Given the description of an element on the screen output the (x, y) to click on. 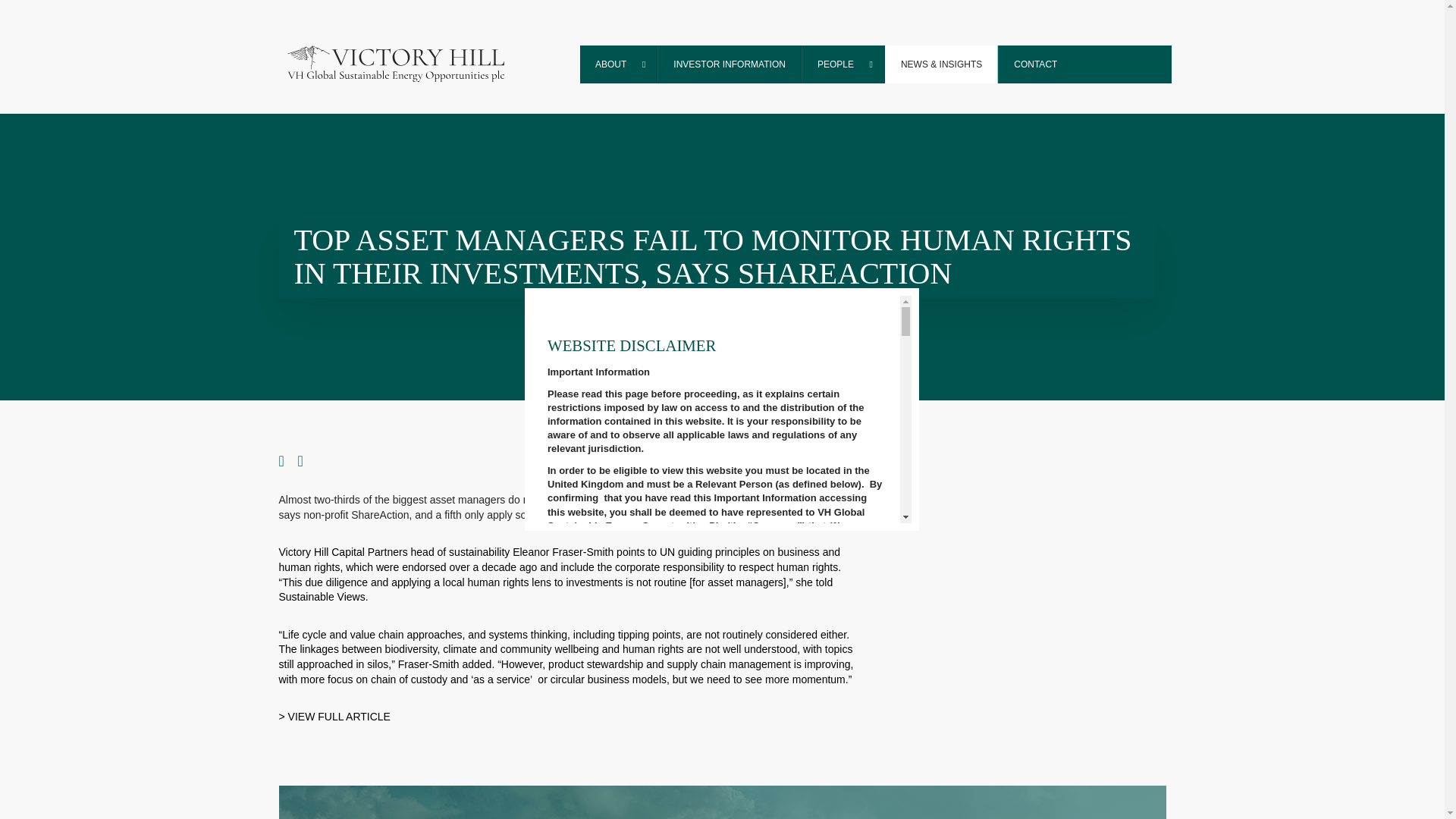
ABOUT (618, 64)
CONTACT (1034, 64)
INVESTOR INFORMATION (730, 64)
PEOPLE (843, 64)
